Given the description of an element on the screen output the (x, y) to click on. 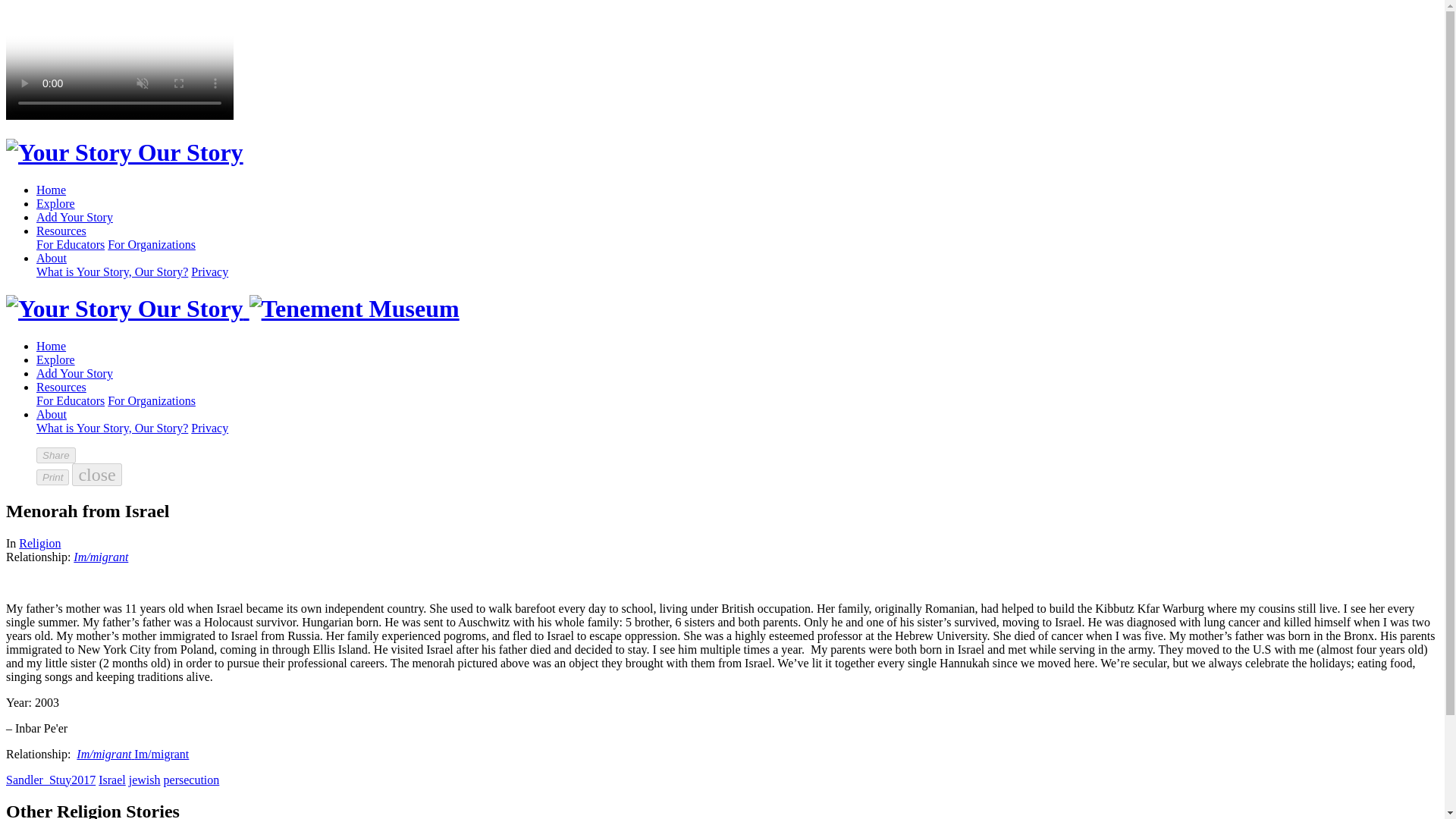
Add Your Story (74, 216)
For Educators (70, 244)
persecution (191, 779)
Privacy (209, 271)
Resources (60, 386)
Explore (55, 359)
What is Your Story, Our Story? (111, 427)
Add Your Story (74, 373)
close (95, 474)
For Organizations (151, 244)
About (51, 413)
Explore (55, 203)
Home (50, 189)
Privacy (209, 427)
Share (55, 455)
